Given the description of an element on the screen output the (x, y) to click on. 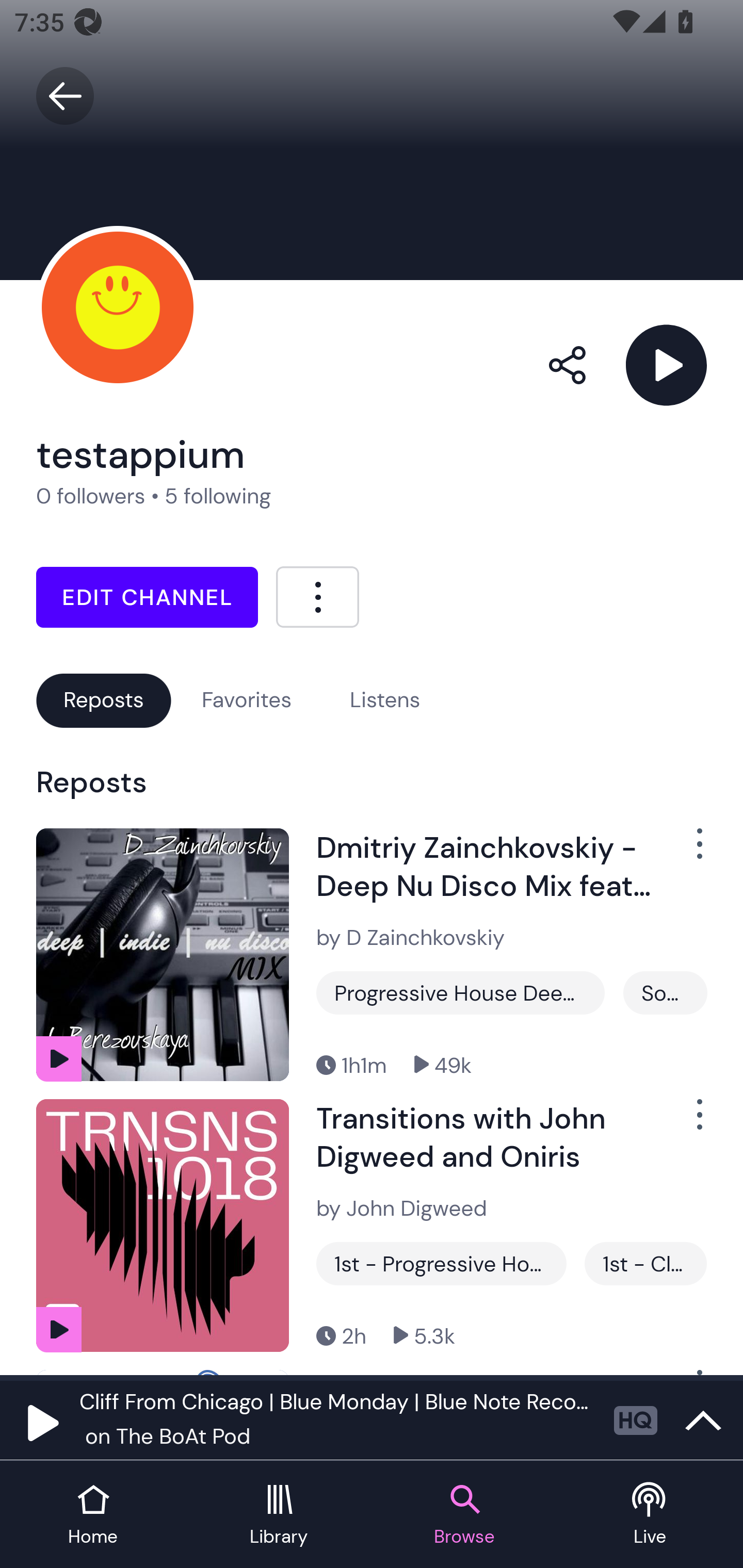
0 followers (90, 495)
5 following (217, 495)
More Menu (317, 596)
Edit Channel EDIT CHANNEL (146, 597)
Reposts (103, 699)
Favorites (246, 699)
Listens (384, 699)
Show Options Menu Button (688, 850)
Progressive House Deep House Tech House (460, 992)
Soulful (664, 992)
Show Options Menu Button (688, 1122)
1st - Progressive House (441, 1263)
1st - Club (645, 1263)
Home tab Home (92, 1515)
Library tab Library (278, 1515)
Browse tab Browse (464, 1515)
Live tab Live (650, 1515)
